Given the description of an element on the screen output the (x, y) to click on. 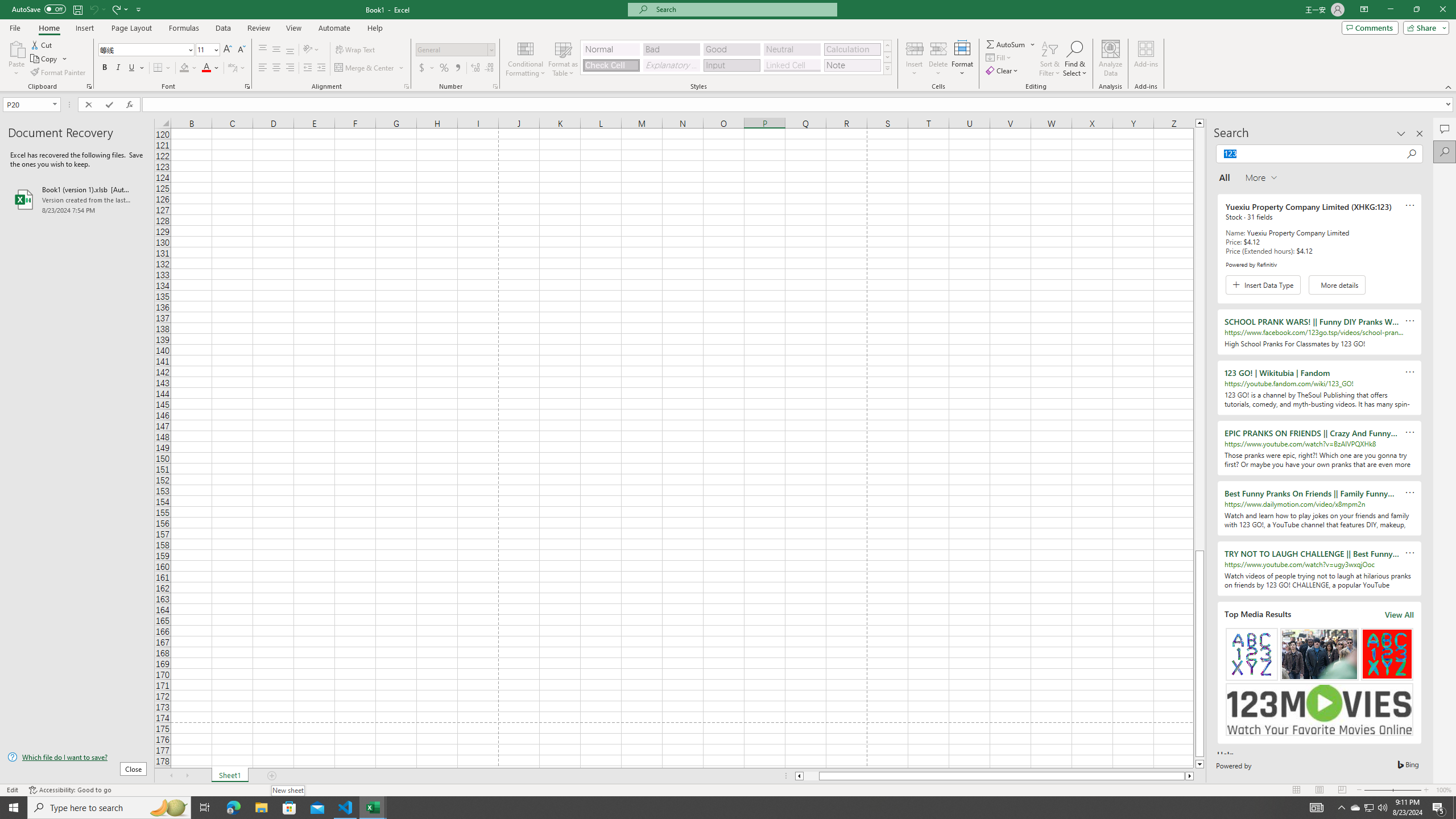
Increase Indent (320, 67)
Bottom Border (157, 67)
Font Color (210, 67)
Increase Decimal (474, 67)
Number Format (451, 49)
Number Format (455, 49)
Conditional Formatting (525, 58)
